Given the description of an element on the screen output the (x, y) to click on. 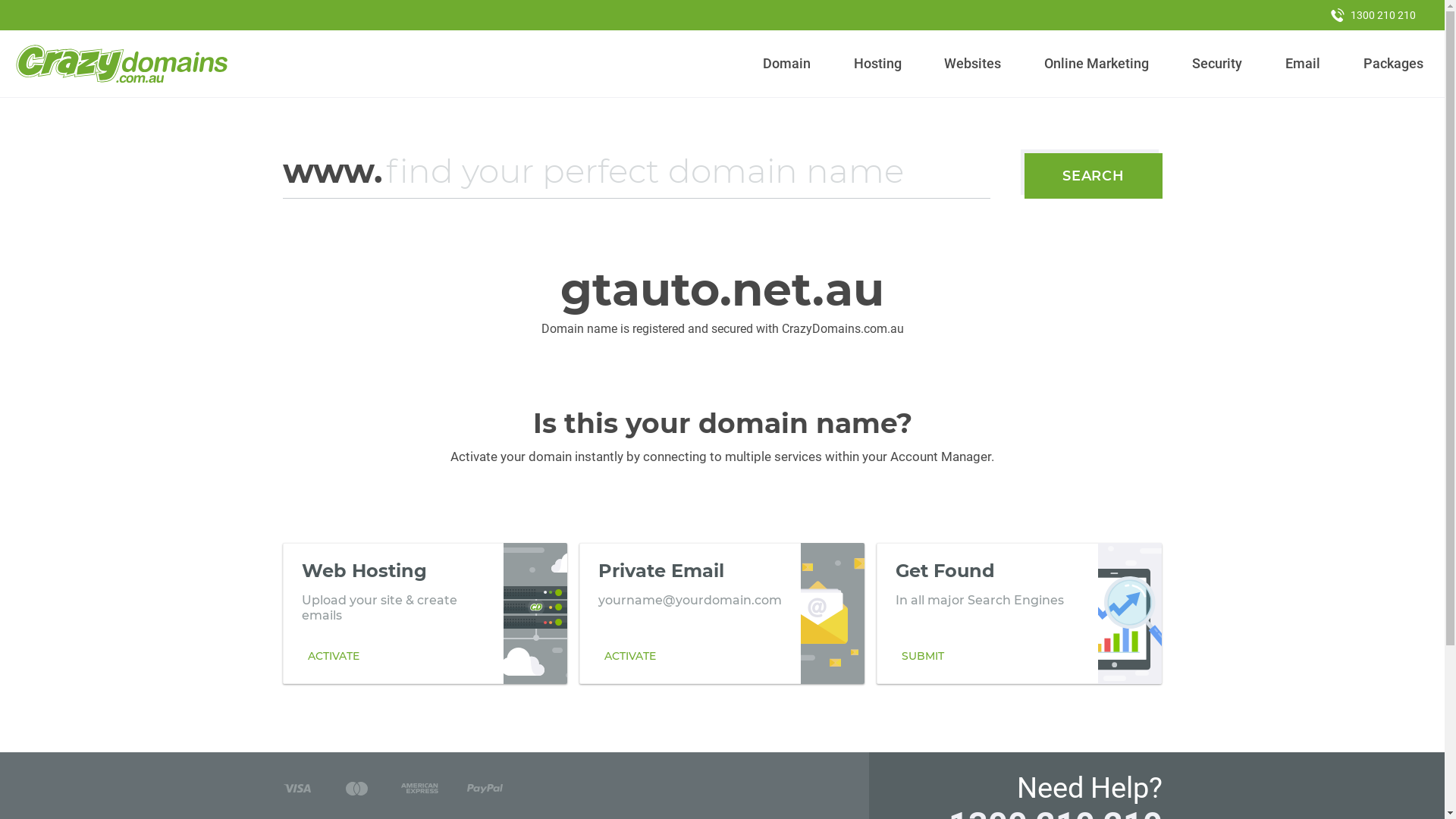
Packages Element type: text (1392, 63)
Domain Element type: text (786, 63)
Online Marketing Element type: text (1096, 63)
Email Element type: text (1302, 63)
Websites Element type: text (972, 63)
Private Email
yourname@yourdomain.com
ACTIVATE Element type: text (721, 613)
1300 210 210 Element type: text (1373, 15)
SEARCH Element type: text (1092, 175)
Security Element type: text (1217, 63)
Hosting Element type: text (877, 63)
Get Found
In all major Search Engines
SUBMIT Element type: text (1018, 613)
Web Hosting
Upload your site & create emails
ACTIVATE Element type: text (424, 613)
